Given the description of an element on the screen output the (x, y) to click on. 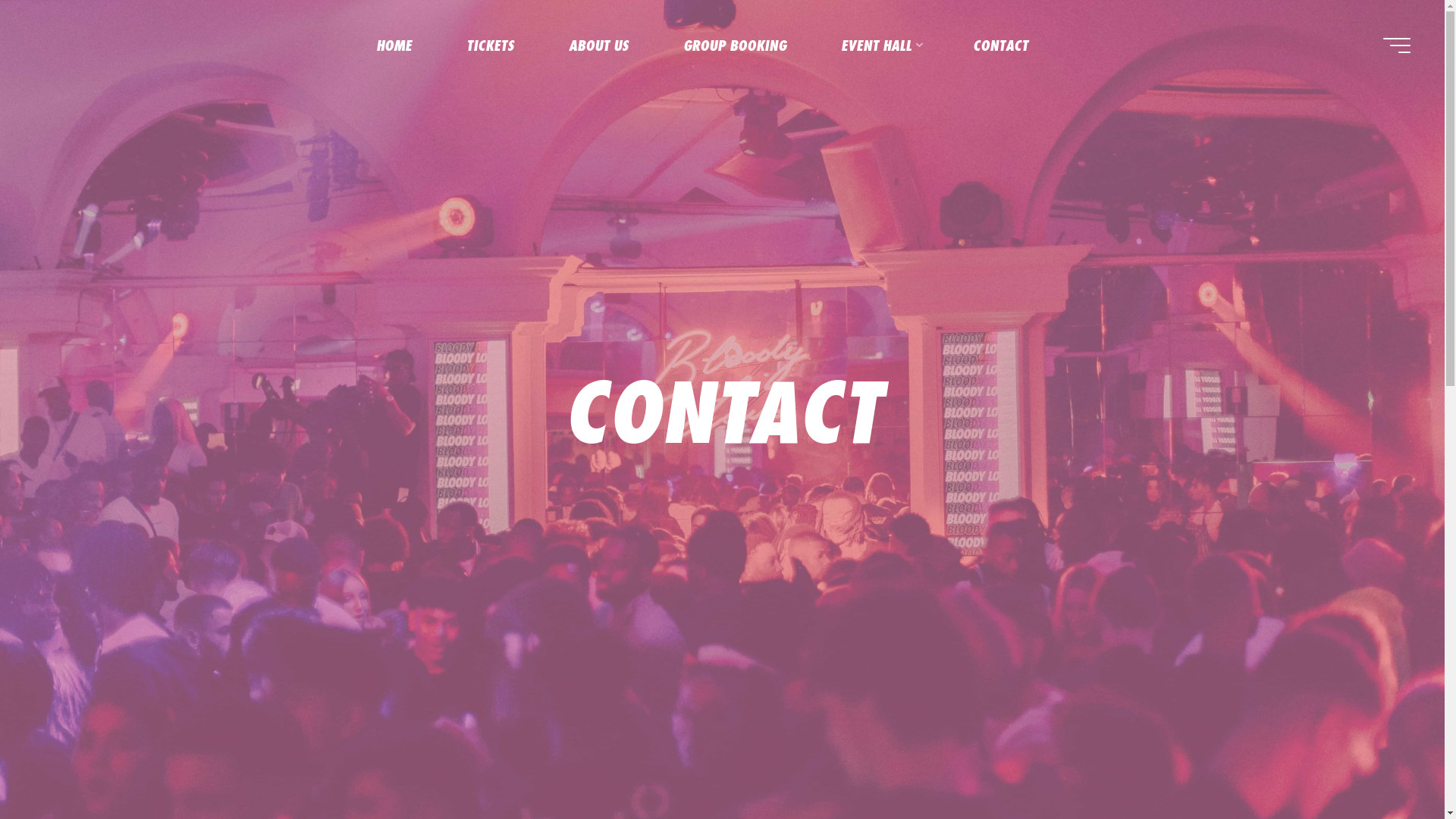
TICKETS Element type: text (489, 45)
GROUP BOOKING Element type: text (733, 45)
Lire la suite Element type: hover (722, 727)
CONTACT Element type: text (999, 45)
HOME Element type: text (393, 45)
EVENT HALL Element type: text (878, 45)
ABOUT US Element type: text (598, 45)
